Given the description of an element on the screen output the (x, y) to click on. 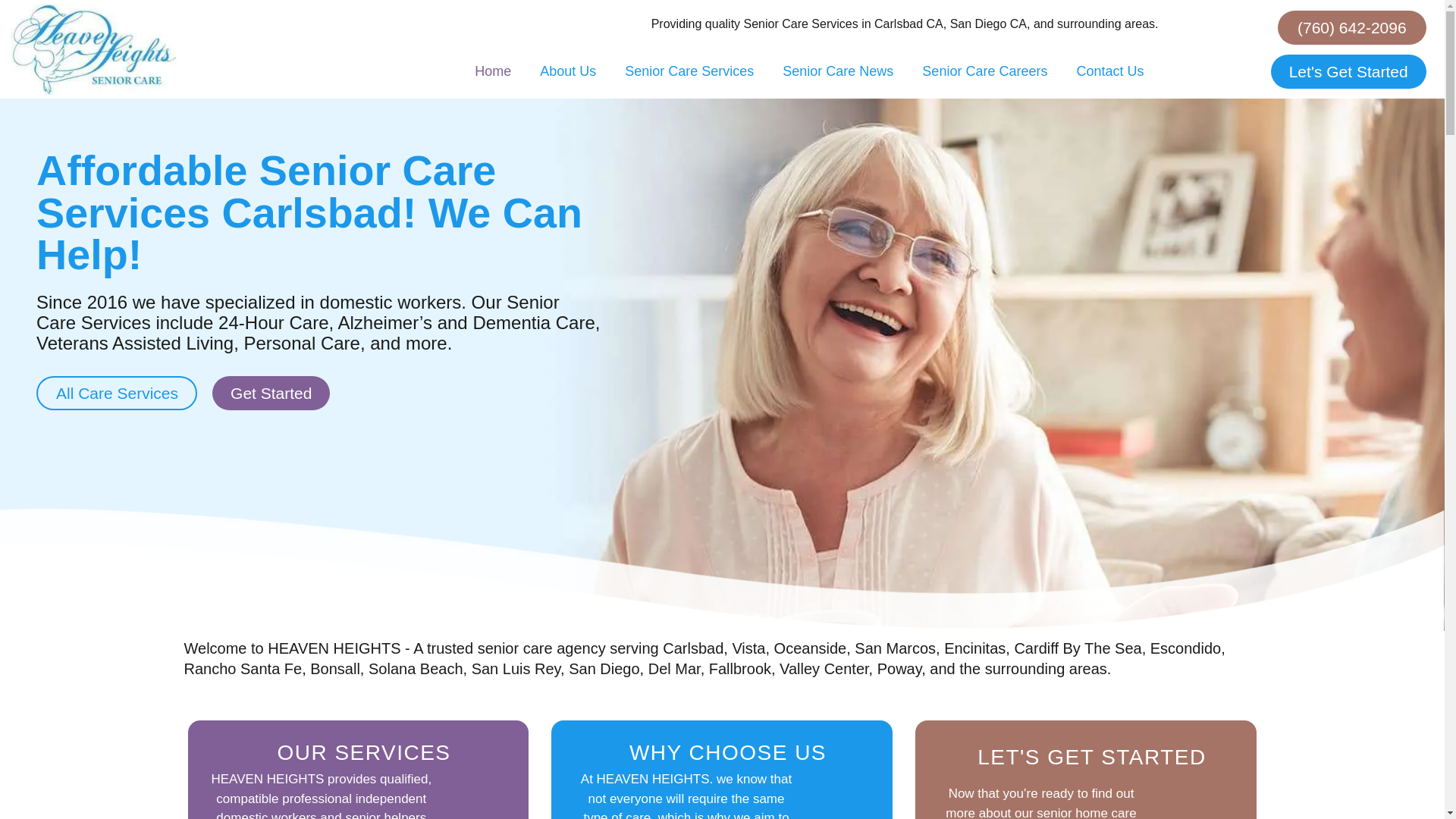
Senior Care Careers (984, 70)
Get Started (271, 392)
Senior Care News (837, 70)
All Care Services (116, 392)
Contact Us (1109, 70)
About Us (567, 70)
Home (492, 70)
Let's Get Started (1348, 71)
Senior Care Services (689, 70)
